Given the description of an element on the screen output the (x, y) to click on. 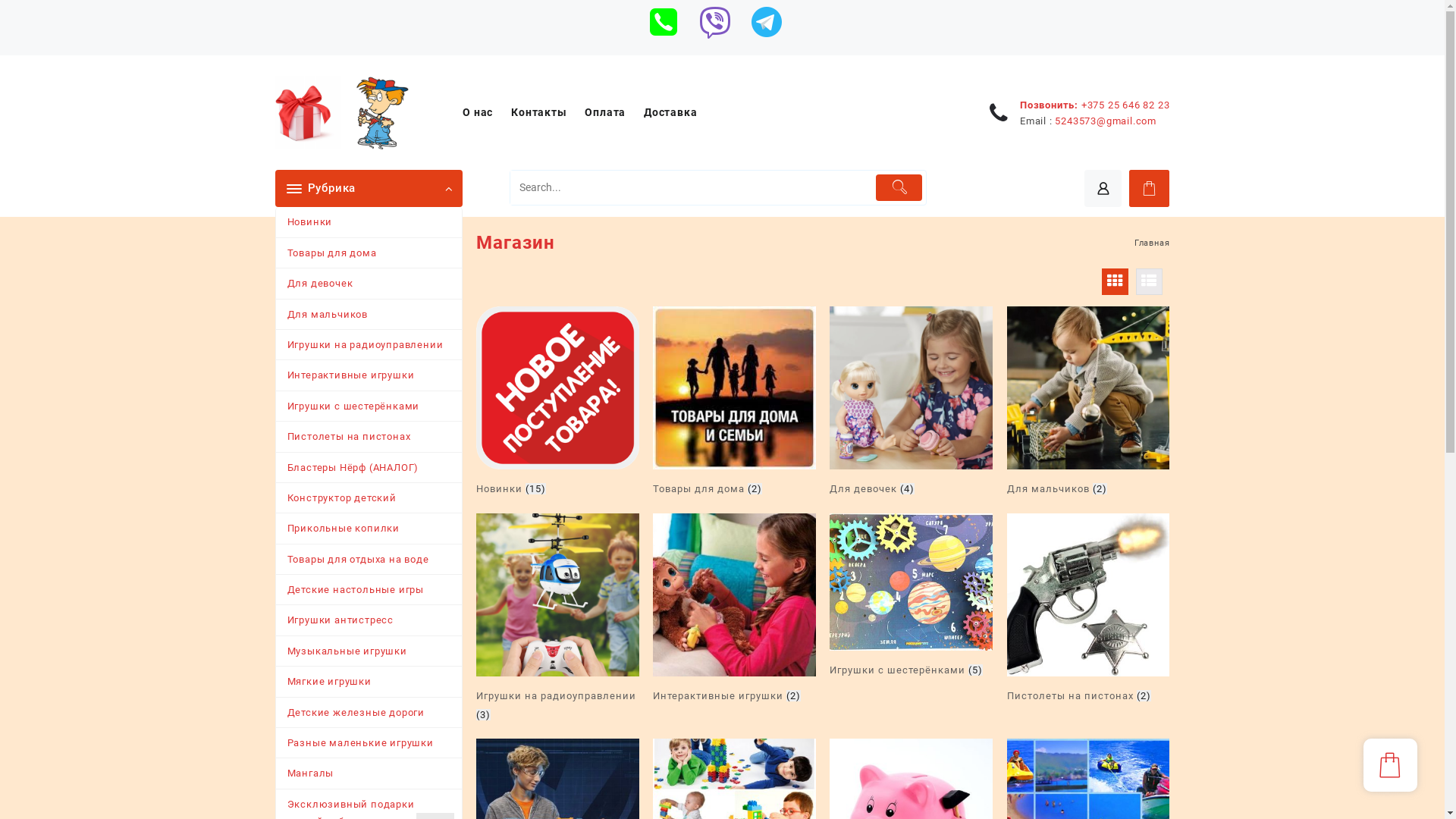
+375 25 646 82 23 Element type: text (1125, 104)
5243573@gmail.com Element type: text (1105, 120)
Search Element type: hover (691, 187)
Submit Element type: text (898, 187)
